Given the description of an element on the screen output the (x, y) to click on. 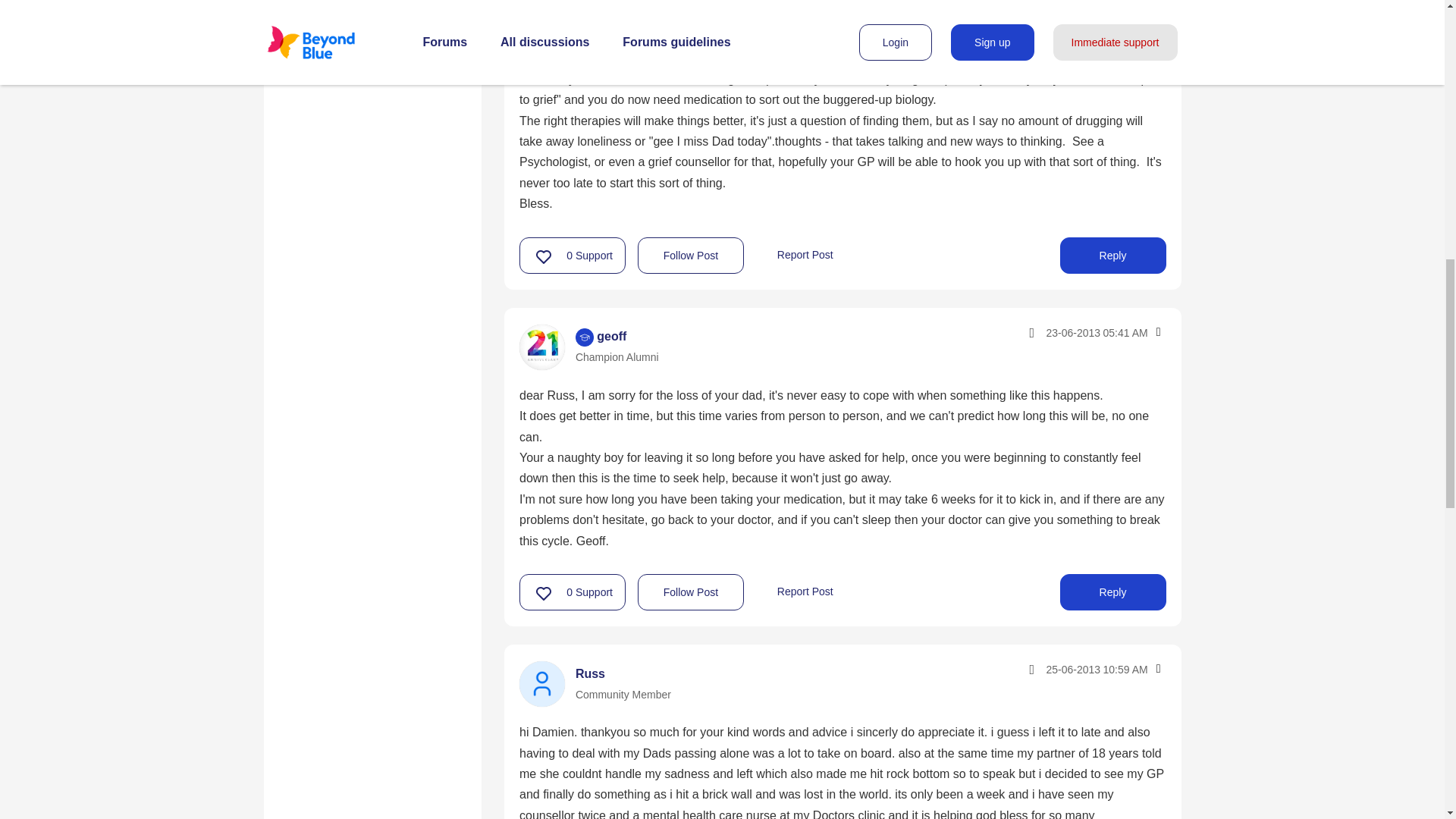
Caring for myself and others (372, 12)
Show option menu (1157, 331)
Champion Alumni (584, 337)
People like me (331, 49)
geoff (541, 347)
Click here to give support to this post. (543, 256)
